Given the description of an element on the screen output the (x, y) to click on. 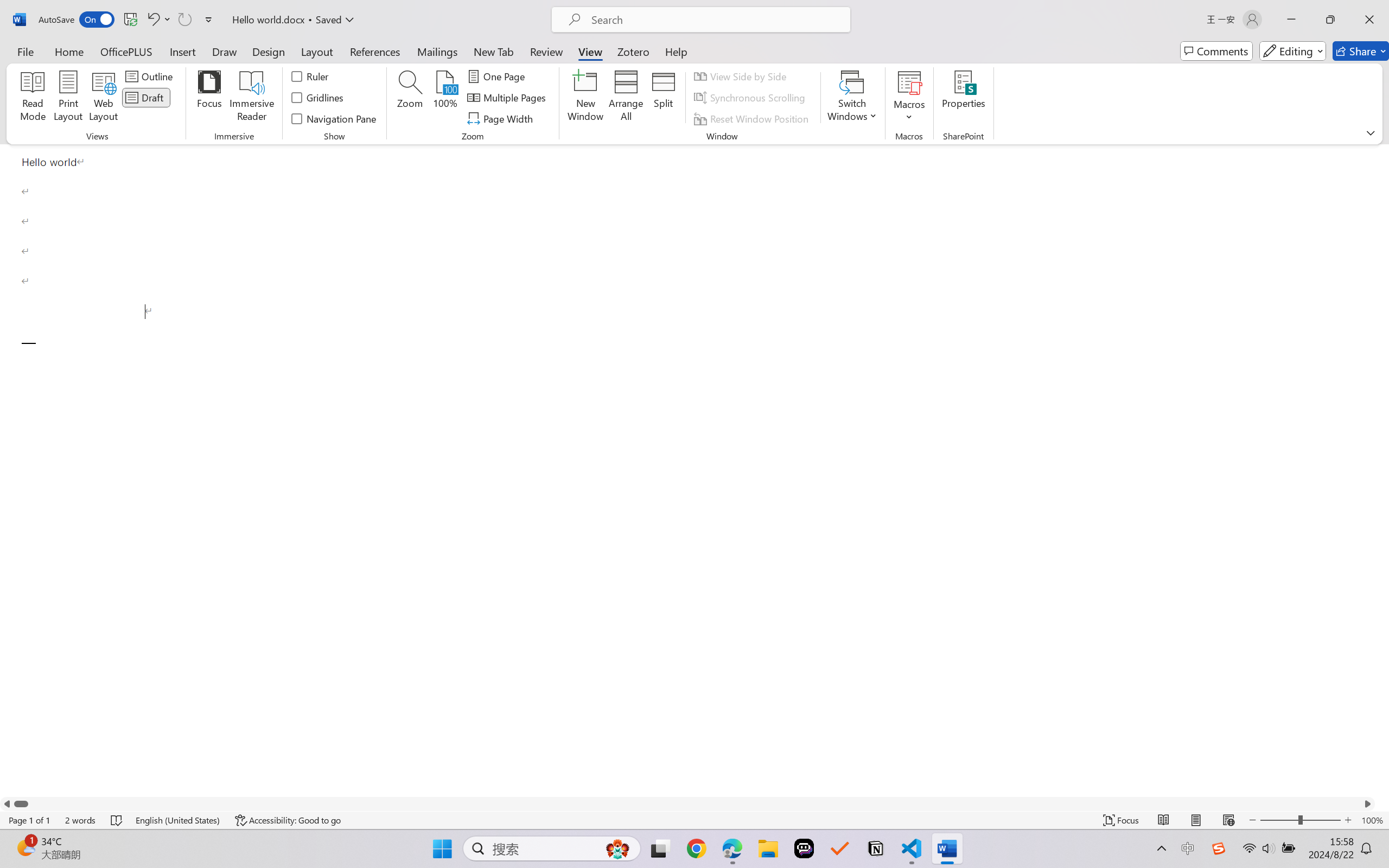
More Options (909, 112)
References (375, 51)
Zoom (1300, 819)
Focus (209, 97)
Page right (694, 803)
Split (663, 97)
Insert (182, 51)
Class: Image (1218, 847)
Draw (224, 51)
Word Count 2 words (80, 819)
Switch Windows (852, 97)
Share (1360, 51)
Restore Down (1330, 19)
Quick Access Toolbar (127, 19)
